Given the description of an element on the screen output the (x, y) to click on. 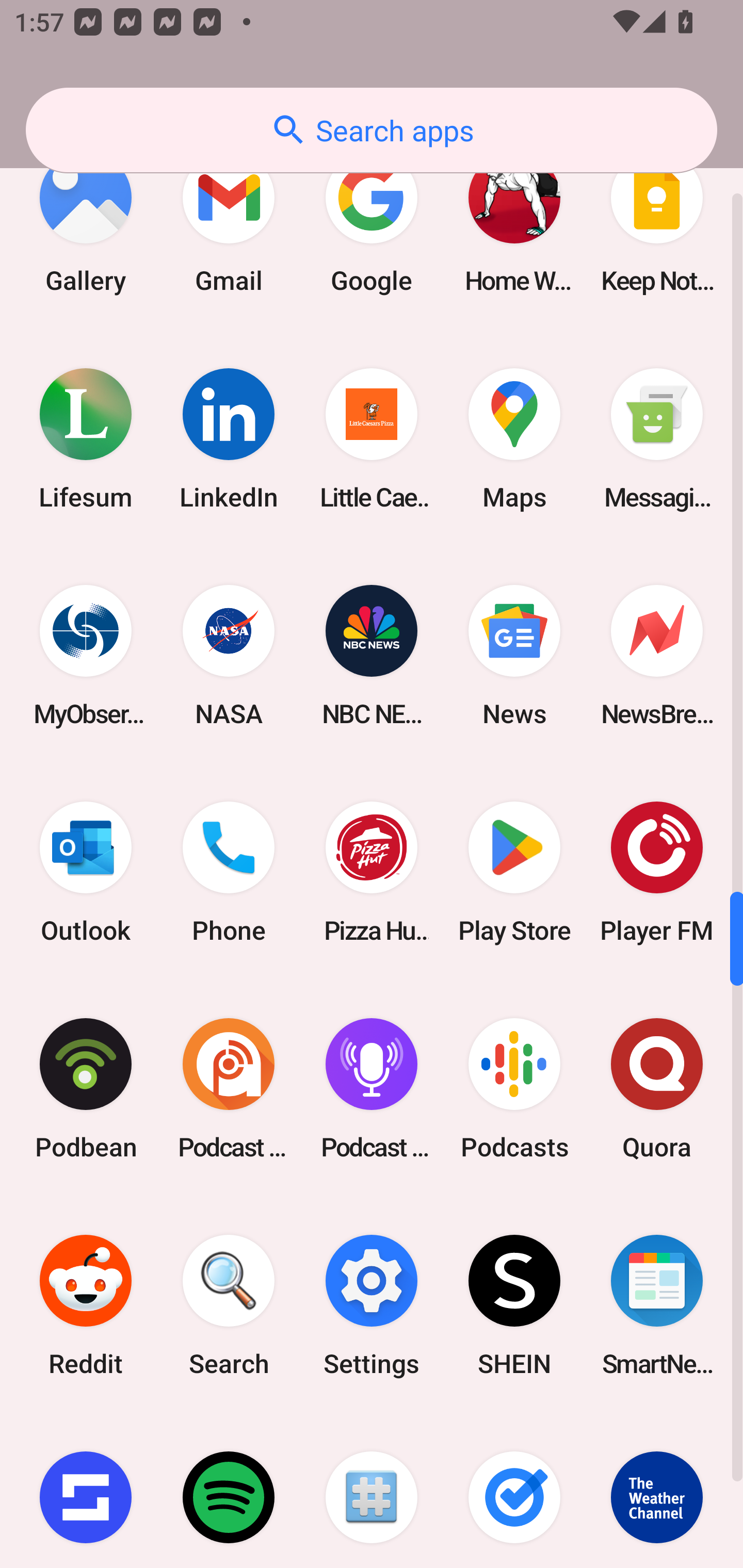
  Search apps (371, 130)
Gallery (85, 222)
Gmail (228, 222)
Google (371, 222)
Home Workout (514, 222)
Keep Notes (656, 222)
Lifesum (85, 438)
LinkedIn (228, 438)
Little Caesars Pizza (371, 438)
Maps (514, 438)
Messaging (656, 438)
MyObservatory (85, 655)
NASA (228, 655)
NBC NEWS (371, 655)
News (514, 655)
NewsBreak (656, 655)
Outlook (85, 871)
Phone (228, 871)
Pizza Hut HK & Macau (371, 871)
Play Store (514, 871)
Player FM (656, 871)
Podbean (85, 1088)
Podcast Addict (228, 1088)
Podcast Player (371, 1088)
Podcasts (514, 1088)
Quora (656, 1088)
Reddit (85, 1305)
Search (228, 1305)
Settings (371, 1305)
SHEIN (514, 1305)
SmartNews (656, 1305)
Sofascore (85, 1491)
Spotify (228, 1491)
Superuser (371, 1491)
Tasks (514, 1491)
The Weather Channel (656, 1491)
